Given the description of an element on the screen output the (x, y) to click on. 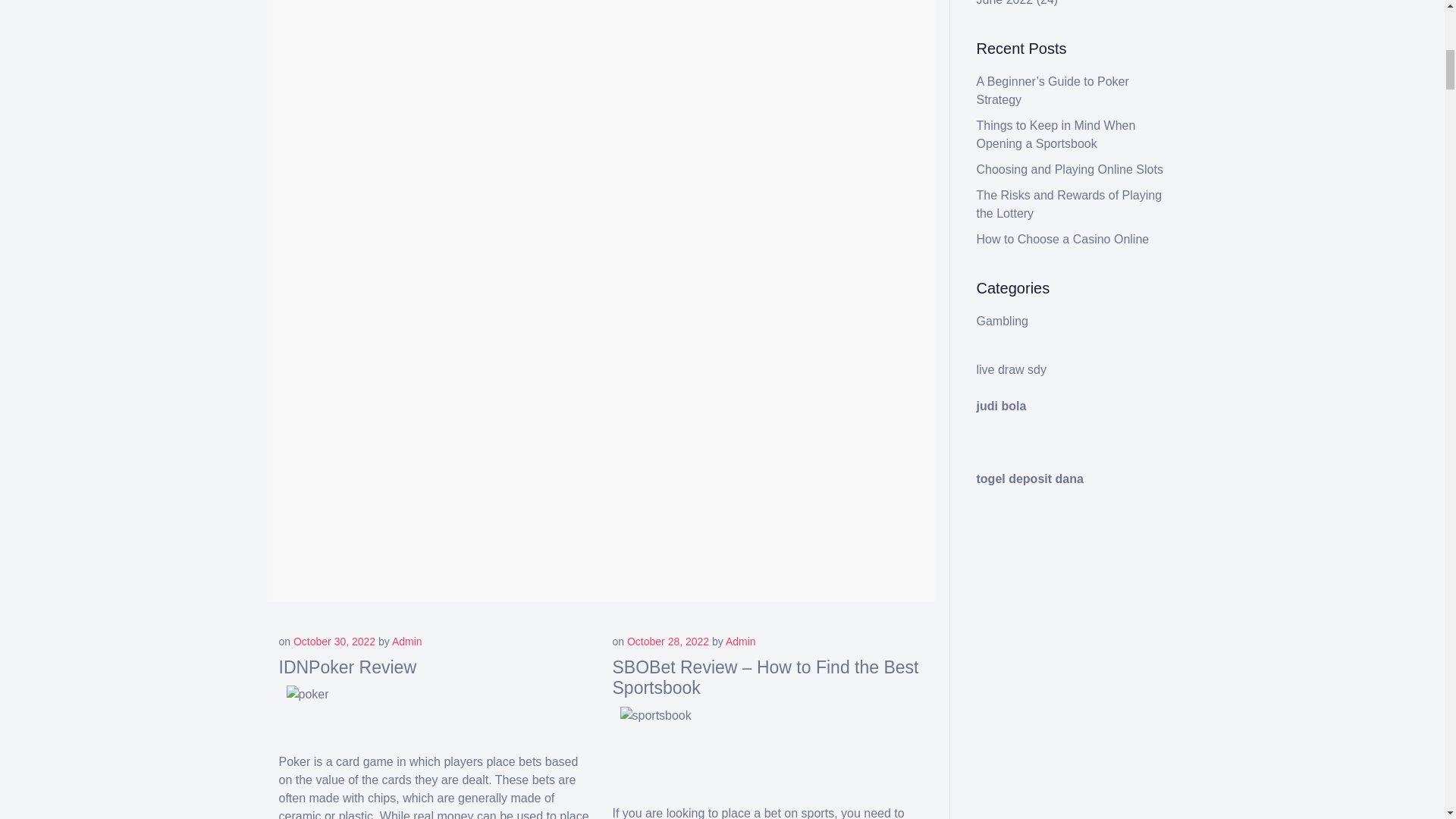
Admin (740, 641)
Admin (406, 641)
IDNPoker Review (347, 667)
October 30, 2022 (334, 641)
October 28, 2022 (668, 641)
